Given the description of an element on the screen output the (x, y) to click on. 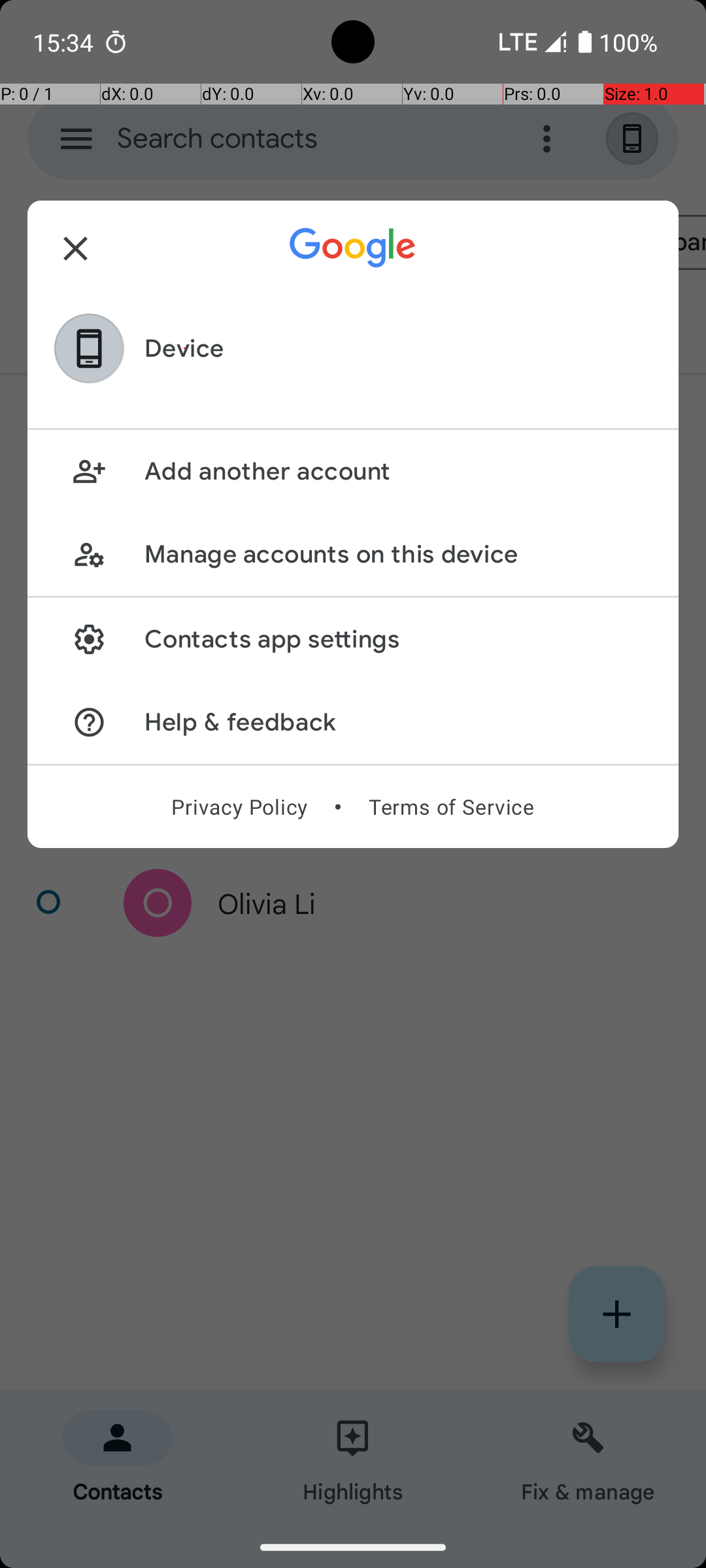
Privacy Policy Element type: android.widget.Button (239, 806)
Terms of Service Element type: android.widget.Button (450, 806)
Add another account Element type: android.widget.TextView (397, 471)
Manage accounts on this device Element type: android.widget.TextView (397, 554)
Contacts app settings Element type: android.widget.TextView (397, 638)
